Given the description of an element on the screen output the (x, y) to click on. 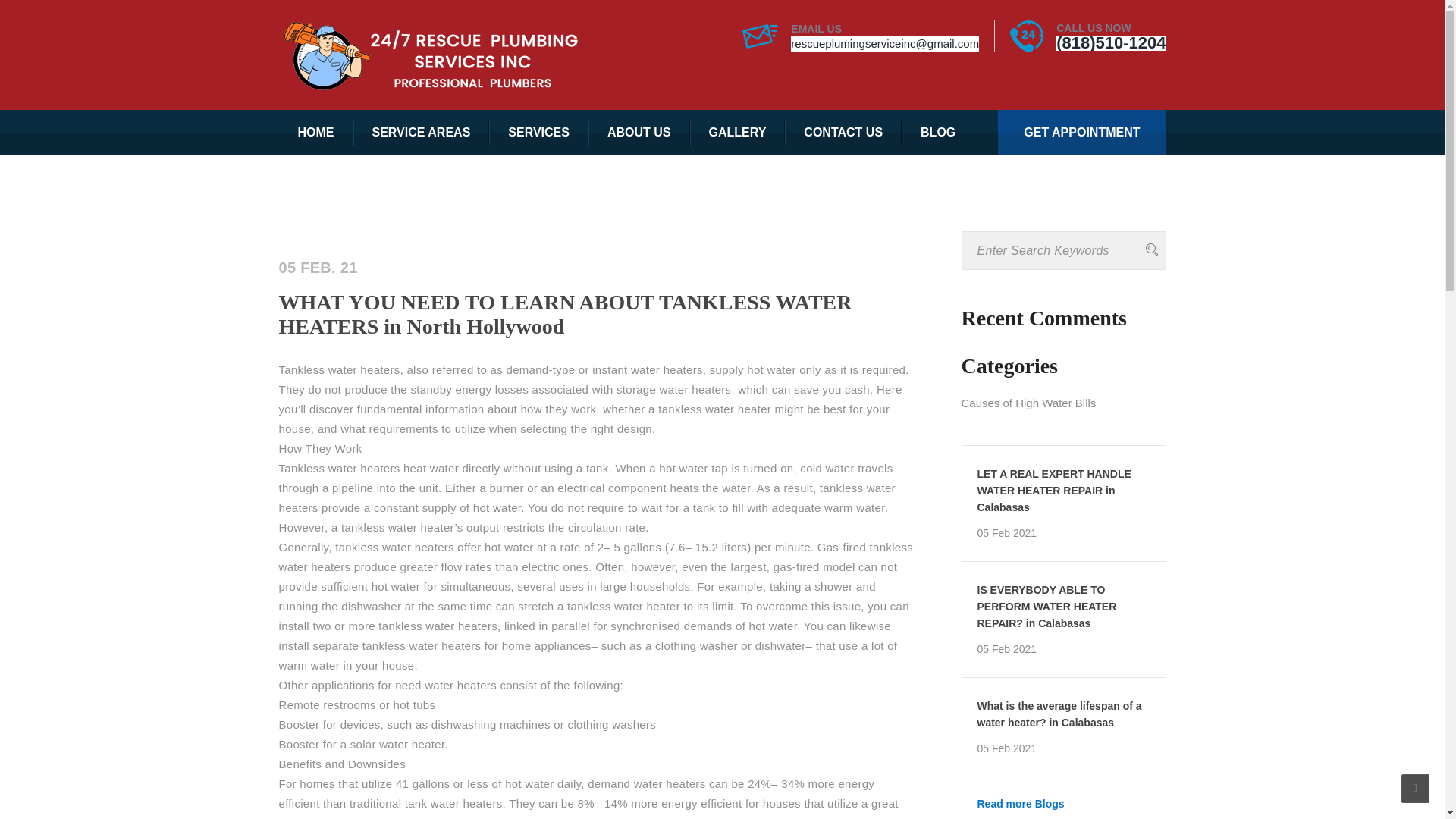
CONTACT US (842, 132)
BLOG (937, 132)
SERVICE AREAS (421, 132)
GET APPOINTMENT (1081, 132)
GALLERY (738, 132)
SERVICES (538, 132)
ABOUT US (639, 132)
HOME (316, 132)
